Given the description of an element on the screen output the (x, y) to click on. 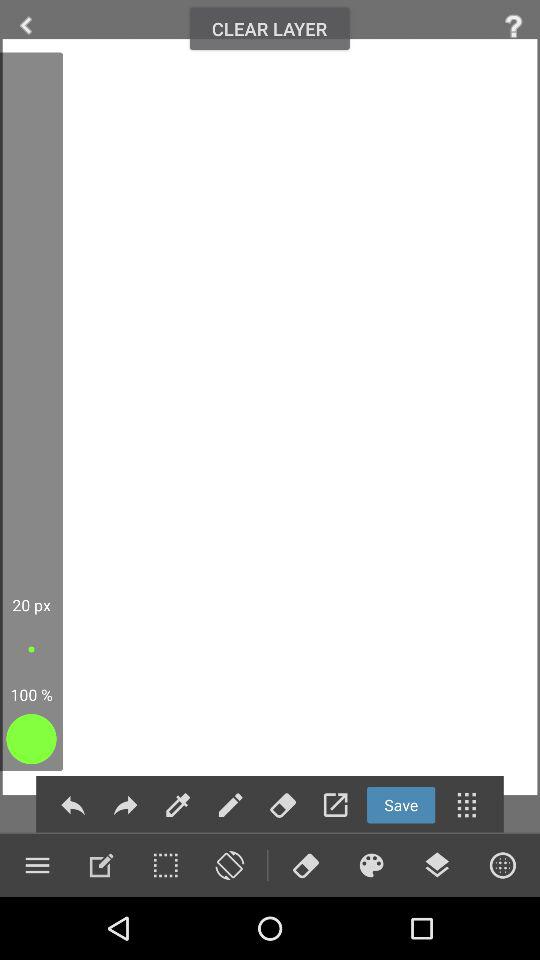
select area tool (165, 865)
